Given the description of an element on the screen output the (x, y) to click on. 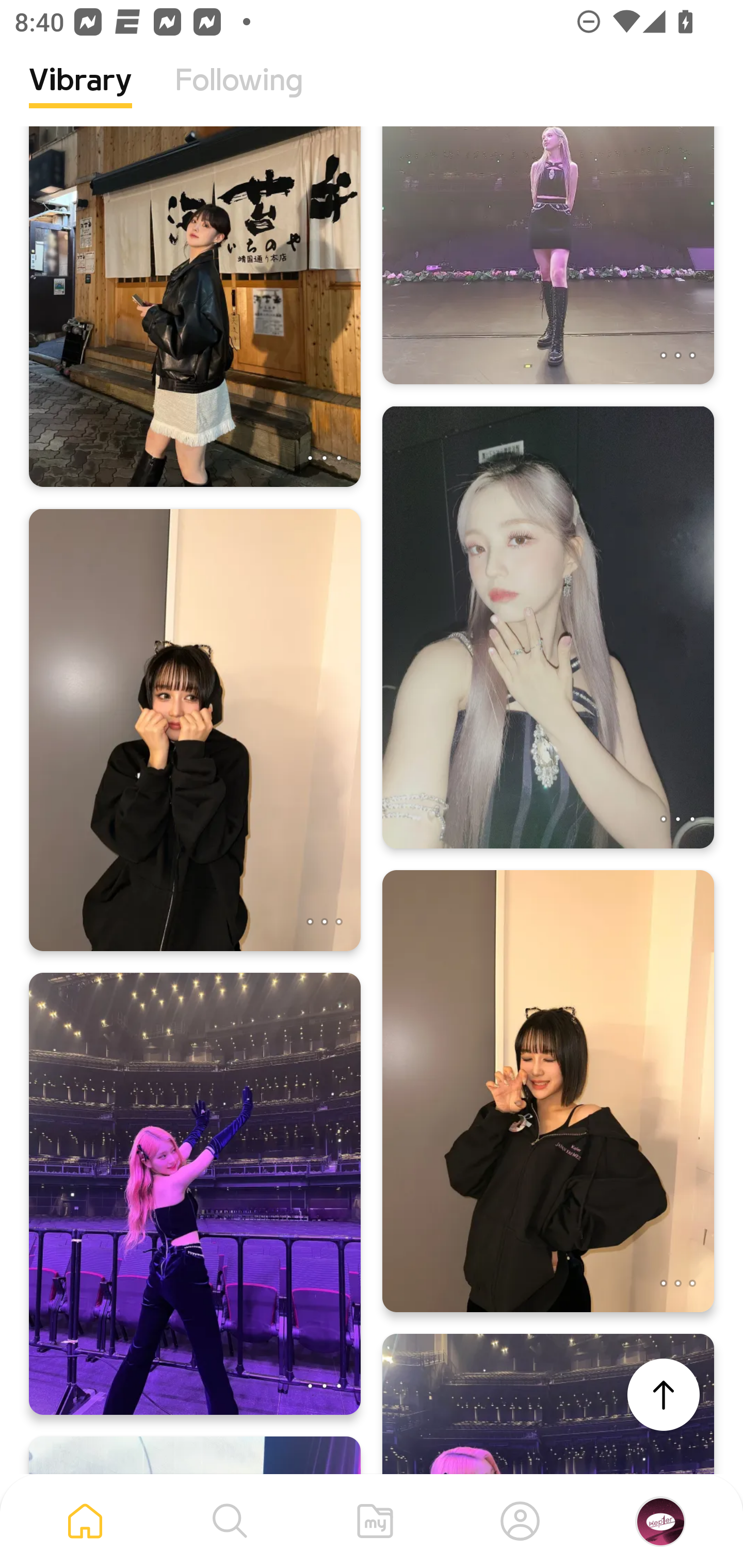
Vibrary (80, 95)
Following (239, 95)
